Given the description of an element on the screen output the (x, y) to click on. 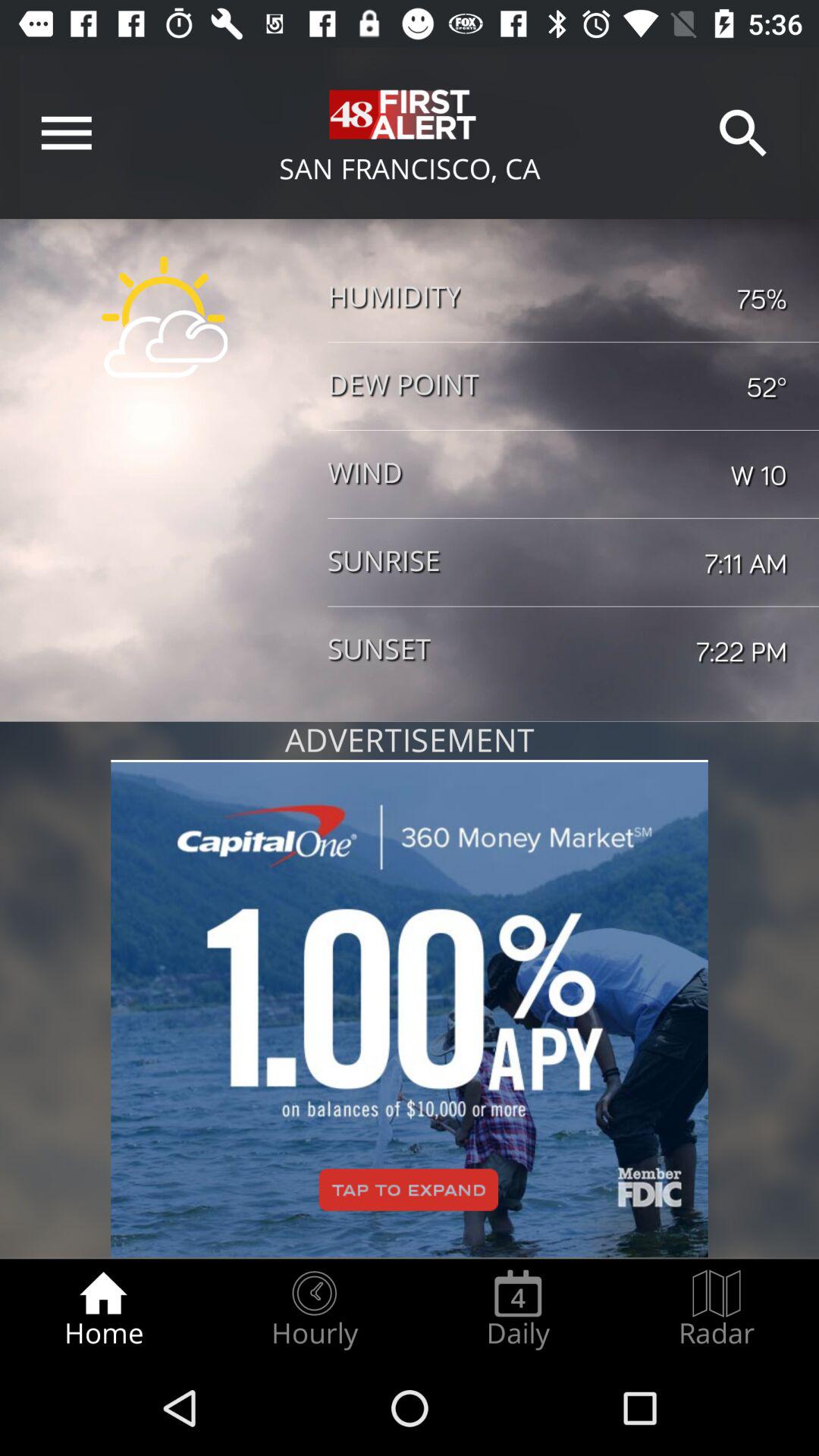
advertising (409, 1008)
